Given the description of an element on the screen output the (x, y) to click on. 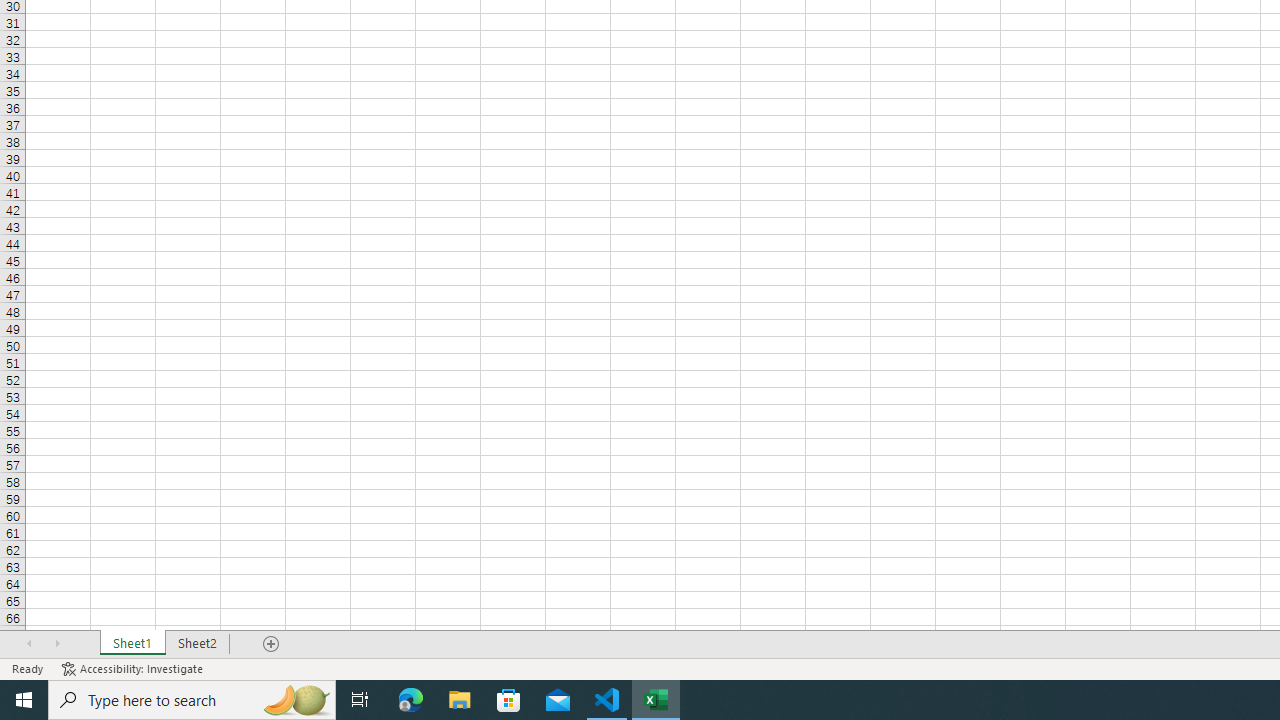
Sheet2 (197, 644)
Accessibility Checker Accessibility: Investigate (134, 668)
